Given the description of an element on the screen output the (x, y) to click on. 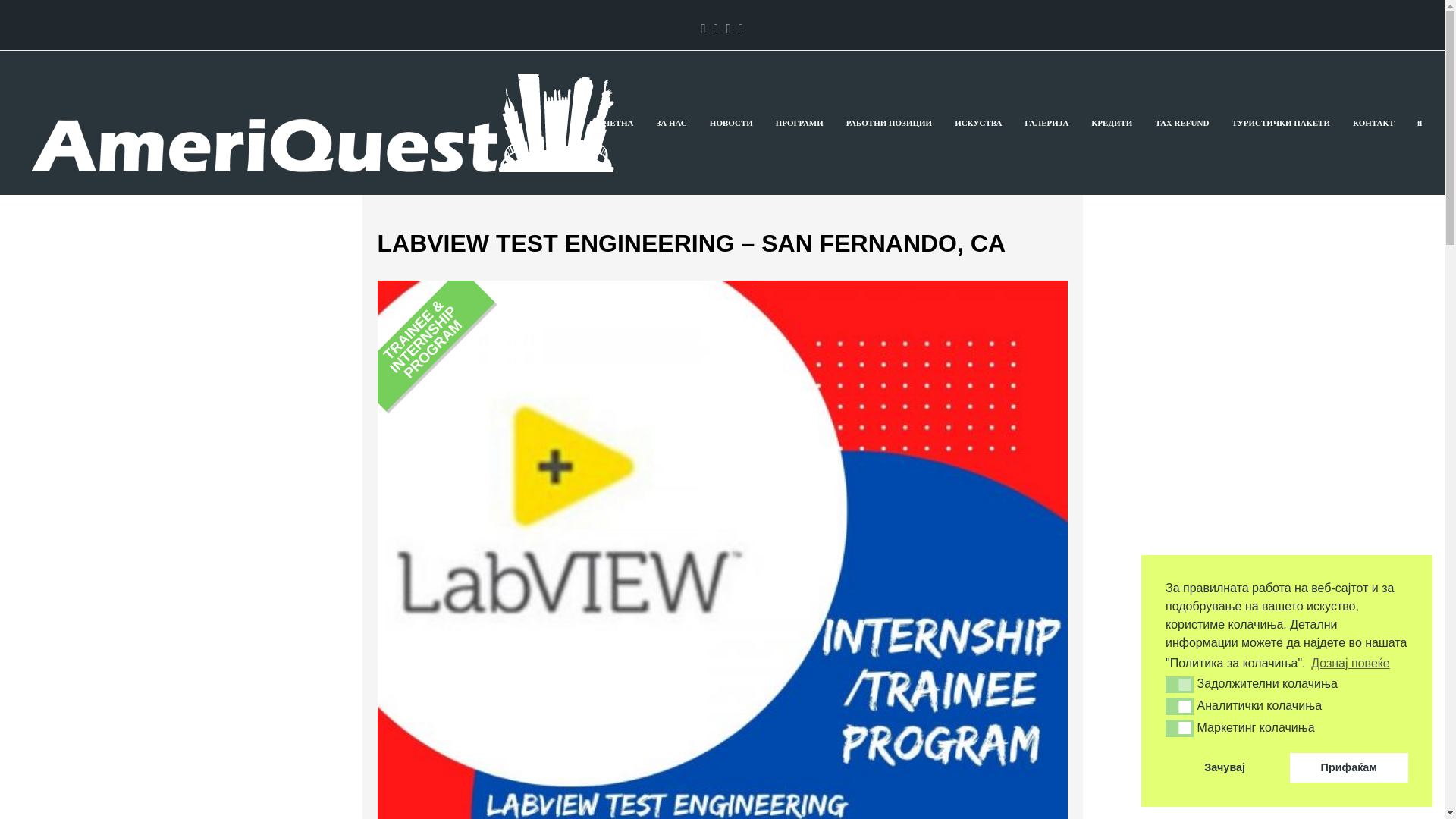
TAX REFUND (1181, 122)
Ameriquest (331, 121)
